Given the description of an element on the screen output the (x, y) to click on. 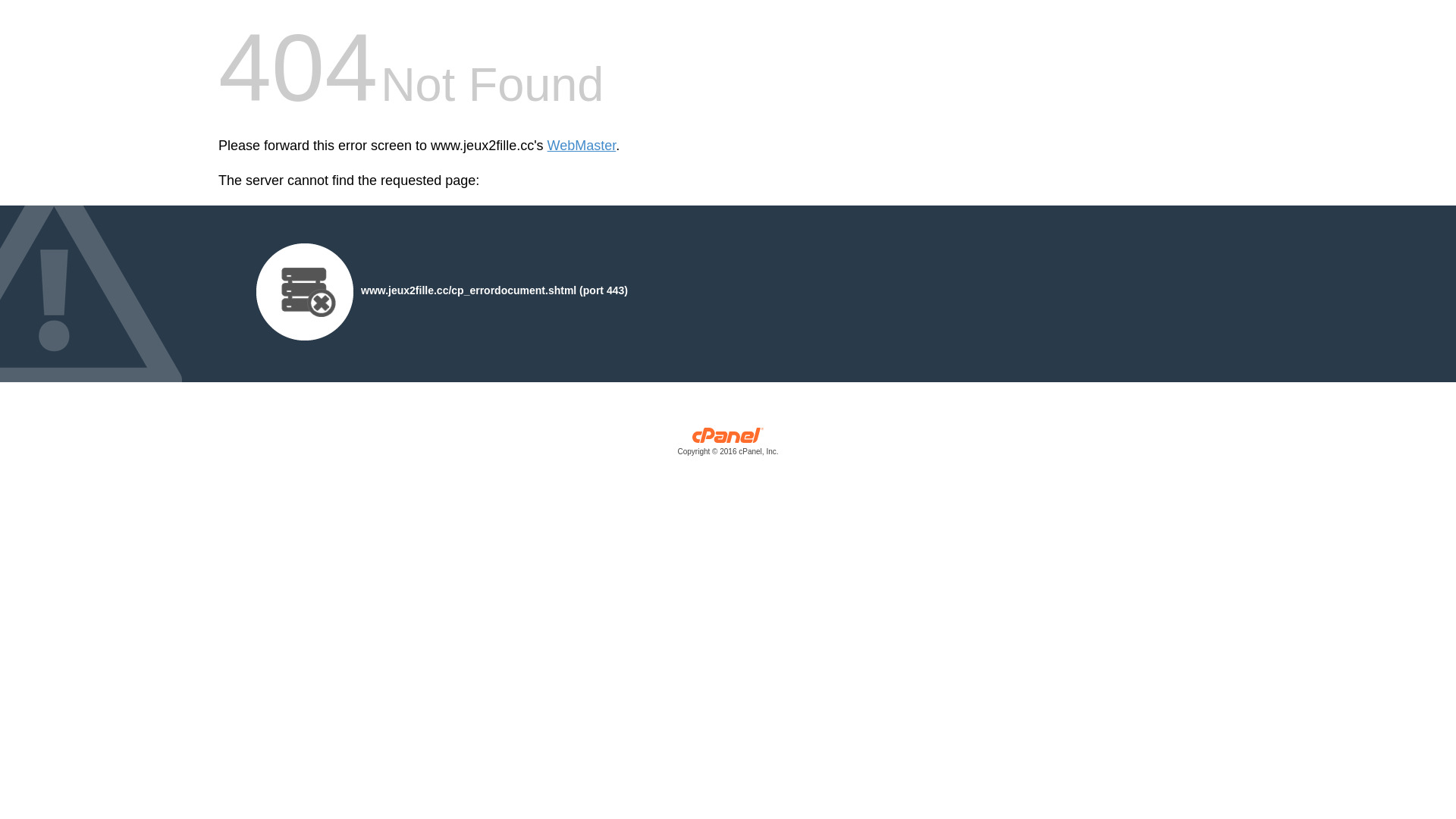
WebMaster Element type: text (581, 145)
